Given the description of an element on the screen output the (x, y) to click on. 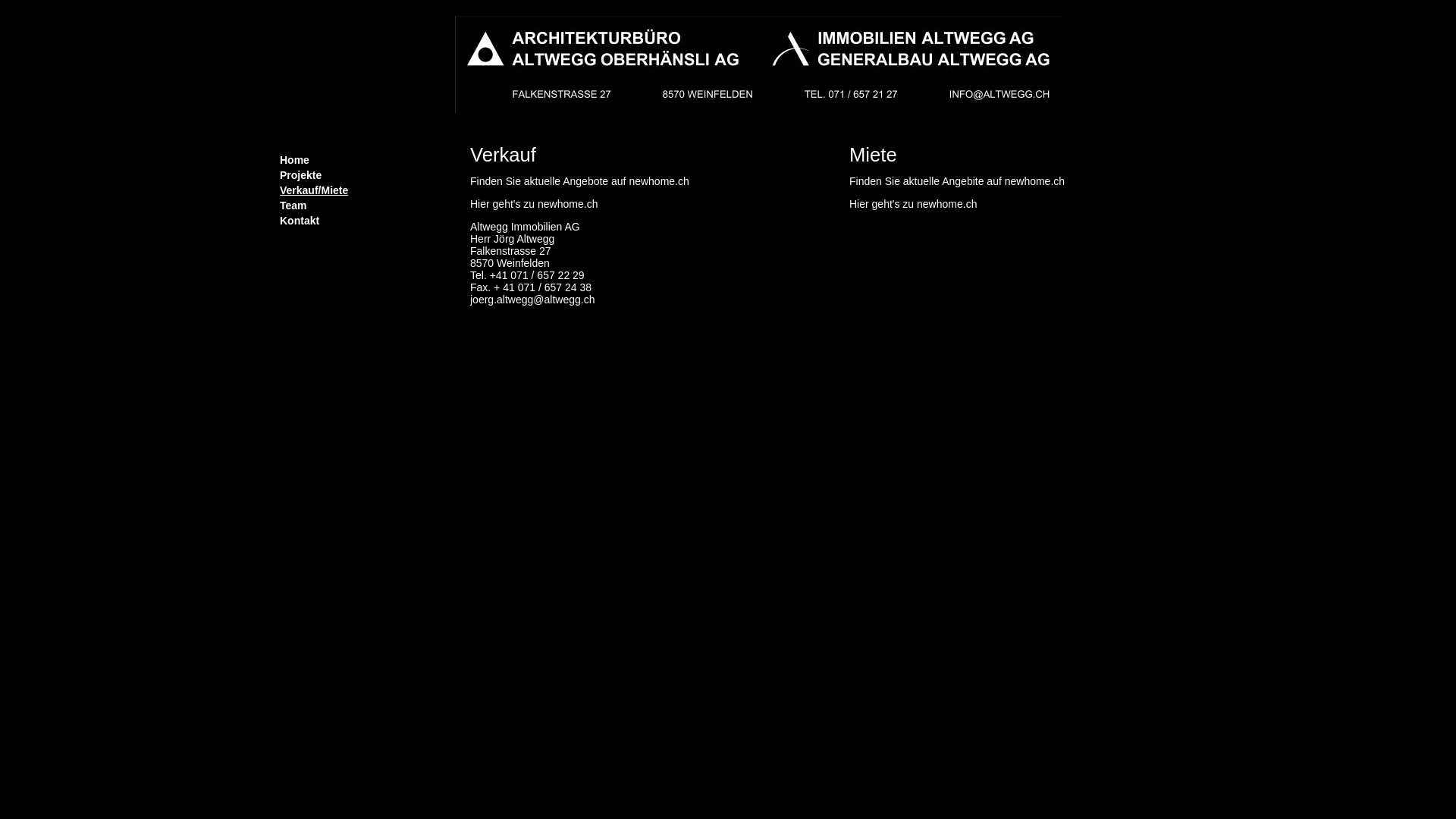
Home Element type: text (364, 159)
Hier geht's zu newhome.ch Element type: text (912, 203)
Team Element type: text (364, 205)
  Element type: text (280, 230)
Hier geht's zu newhome.ch Element type: text (533, 203)
Projekte Element type: text (364, 174)
Kontakt Element type: text (364, 220)
joerg.altwegg@altwegg.ch Element type: text (532, 298)
